Given the description of an element on the screen output the (x, y) to click on. 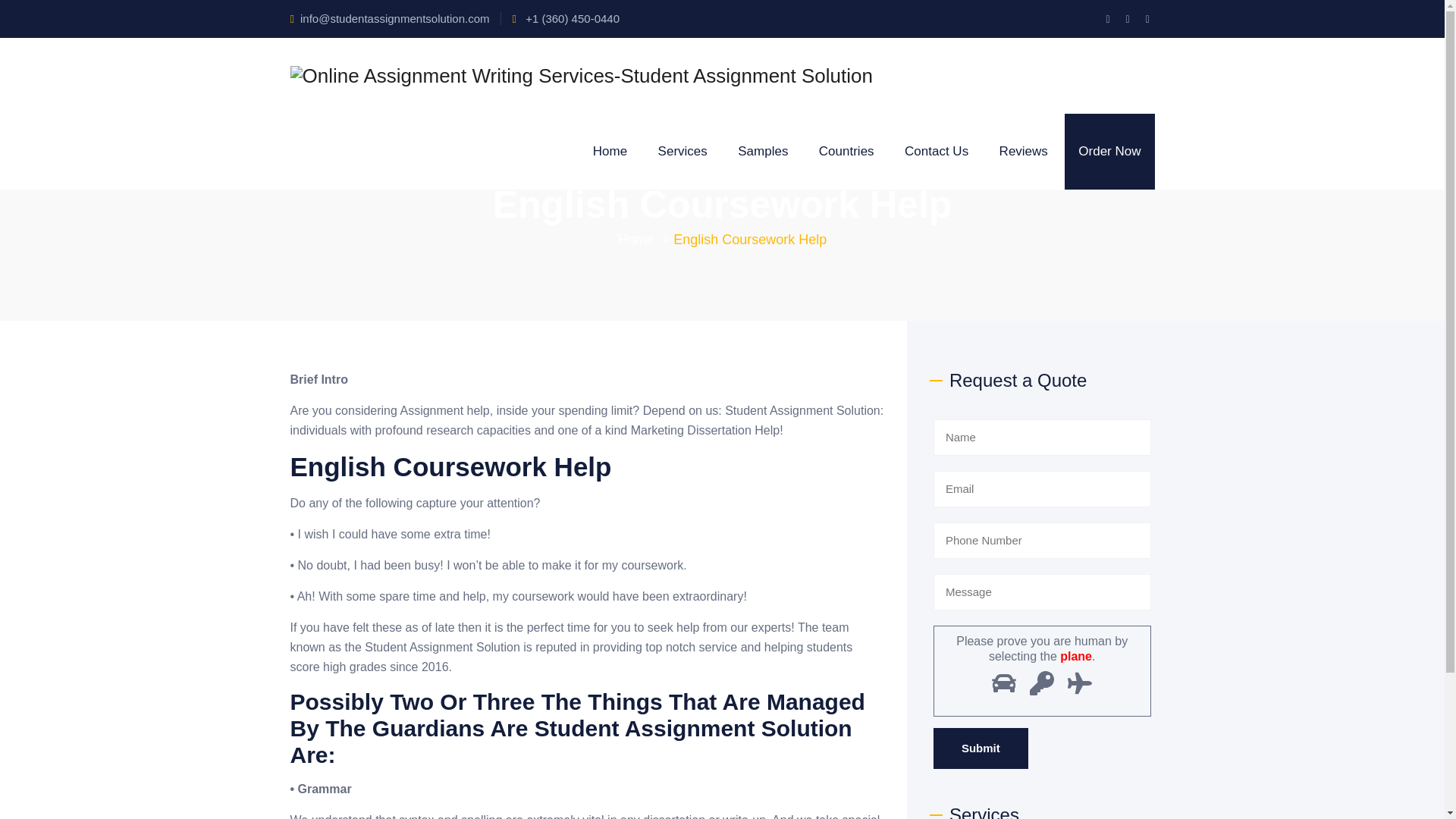
Home (609, 151)
Services (682, 151)
Samples (762, 151)
Countries (846, 151)
Submit (980, 748)
